Given the description of an element on the screen output the (x, y) to click on. 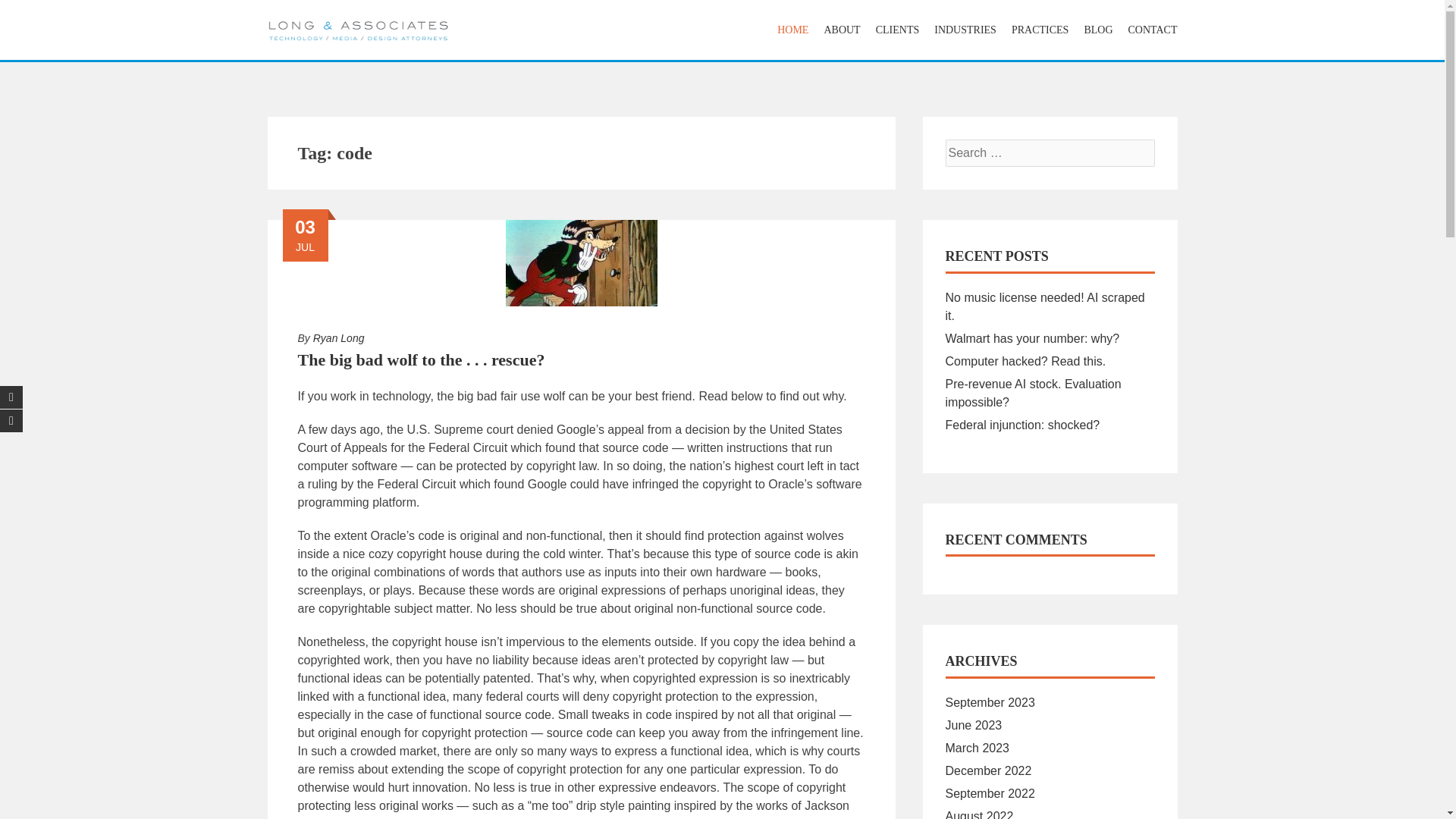
Computer hacked? Read this. (1024, 360)
Search (34, 13)
CONTACT (1149, 29)
HOME (792, 29)
December 2022 (987, 770)
Ryan Long (339, 337)
No music license needed! AI scraped it. (1044, 306)
June 2023 (972, 725)
PRACTICES (1039, 29)
ABOUT (841, 29)
